Given the description of an element on the screen output the (x, y) to click on. 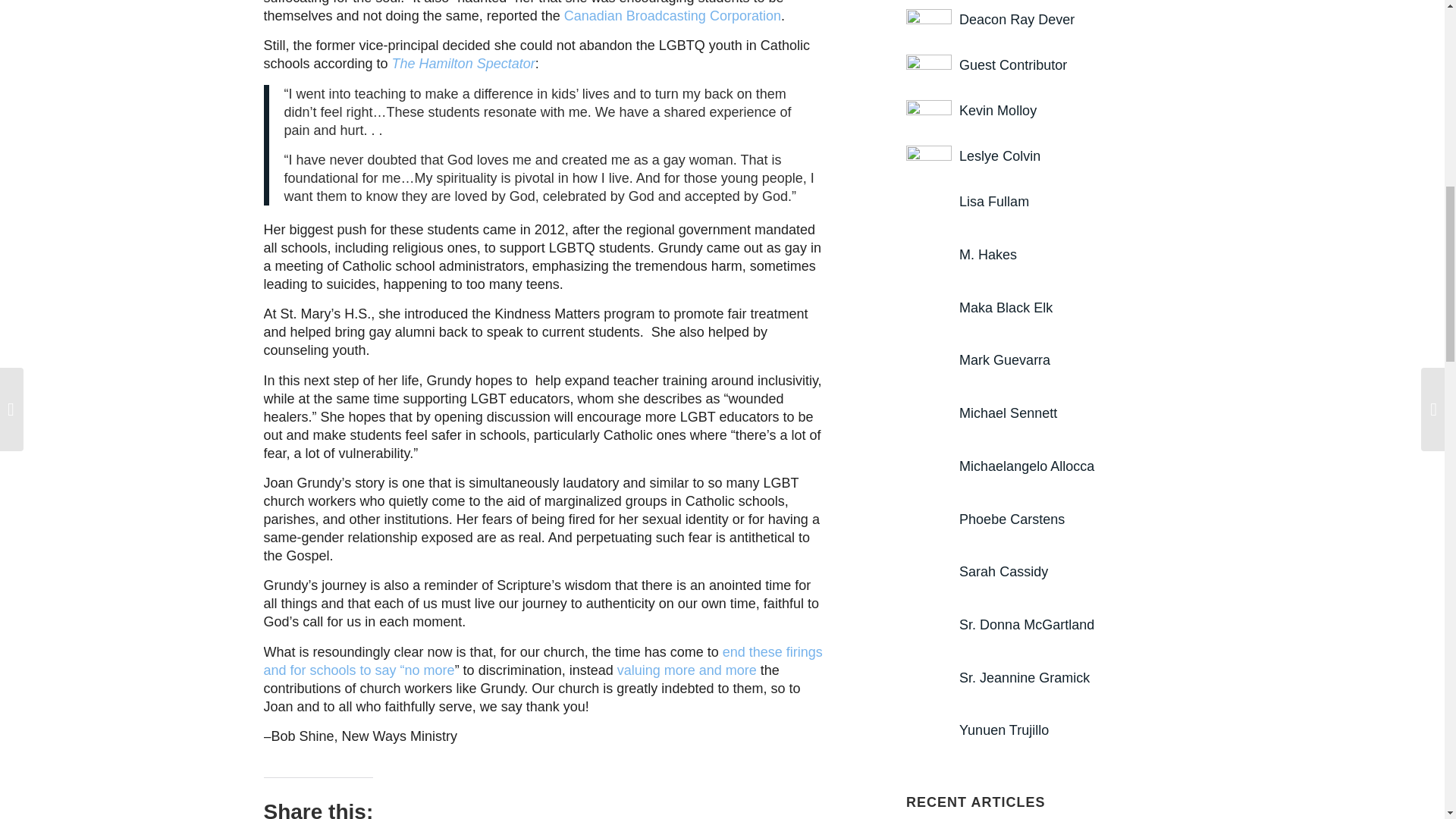
valuing more and more (687, 670)
The Hamilton Spectator (463, 63)
Canadian Broadcasting Corporation (672, 15)
